Given the description of an element on the screen output the (x, y) to click on. 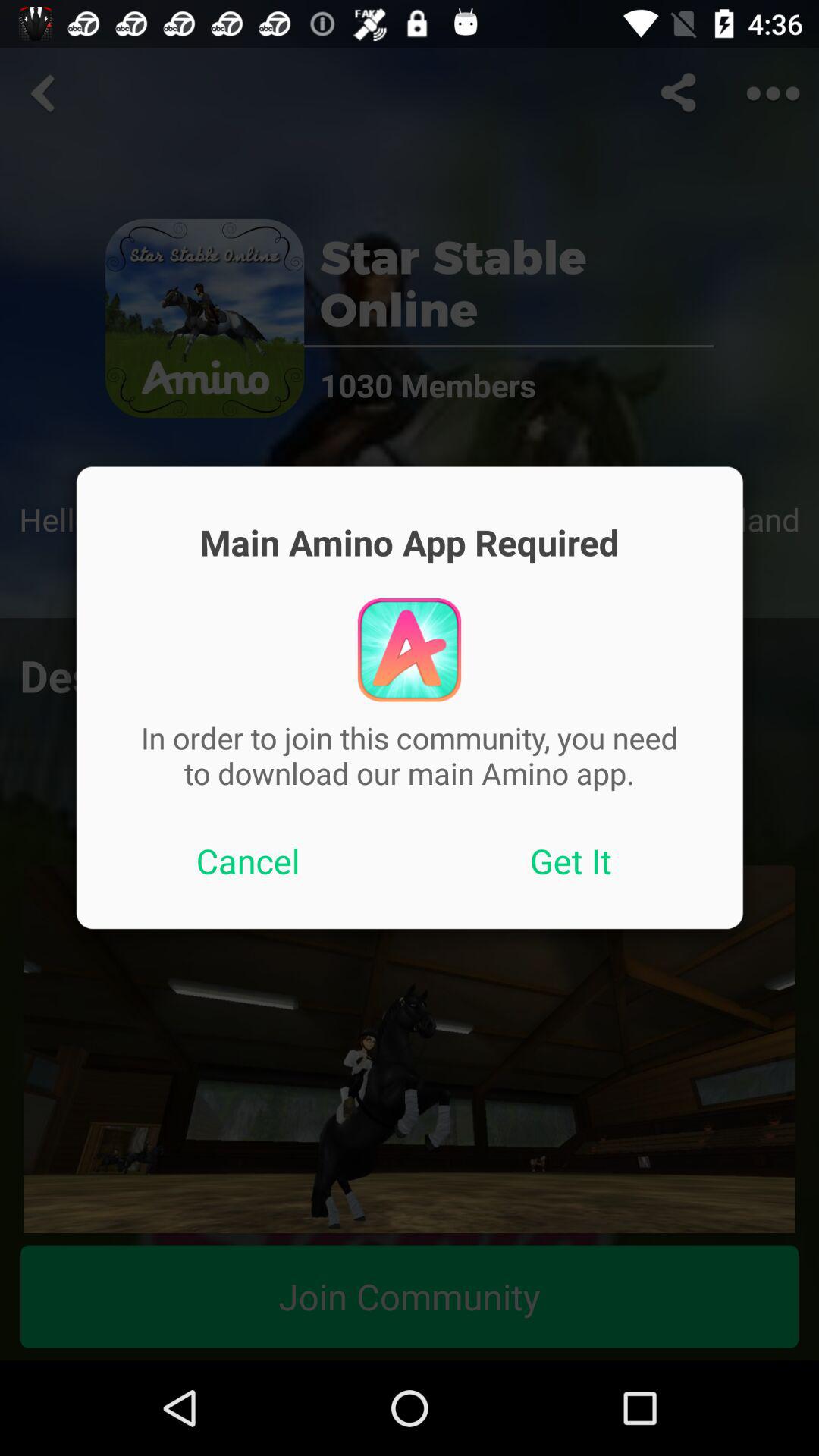
press icon to the right of cancel icon (570, 860)
